Given the description of an element on the screen output the (x, y) to click on. 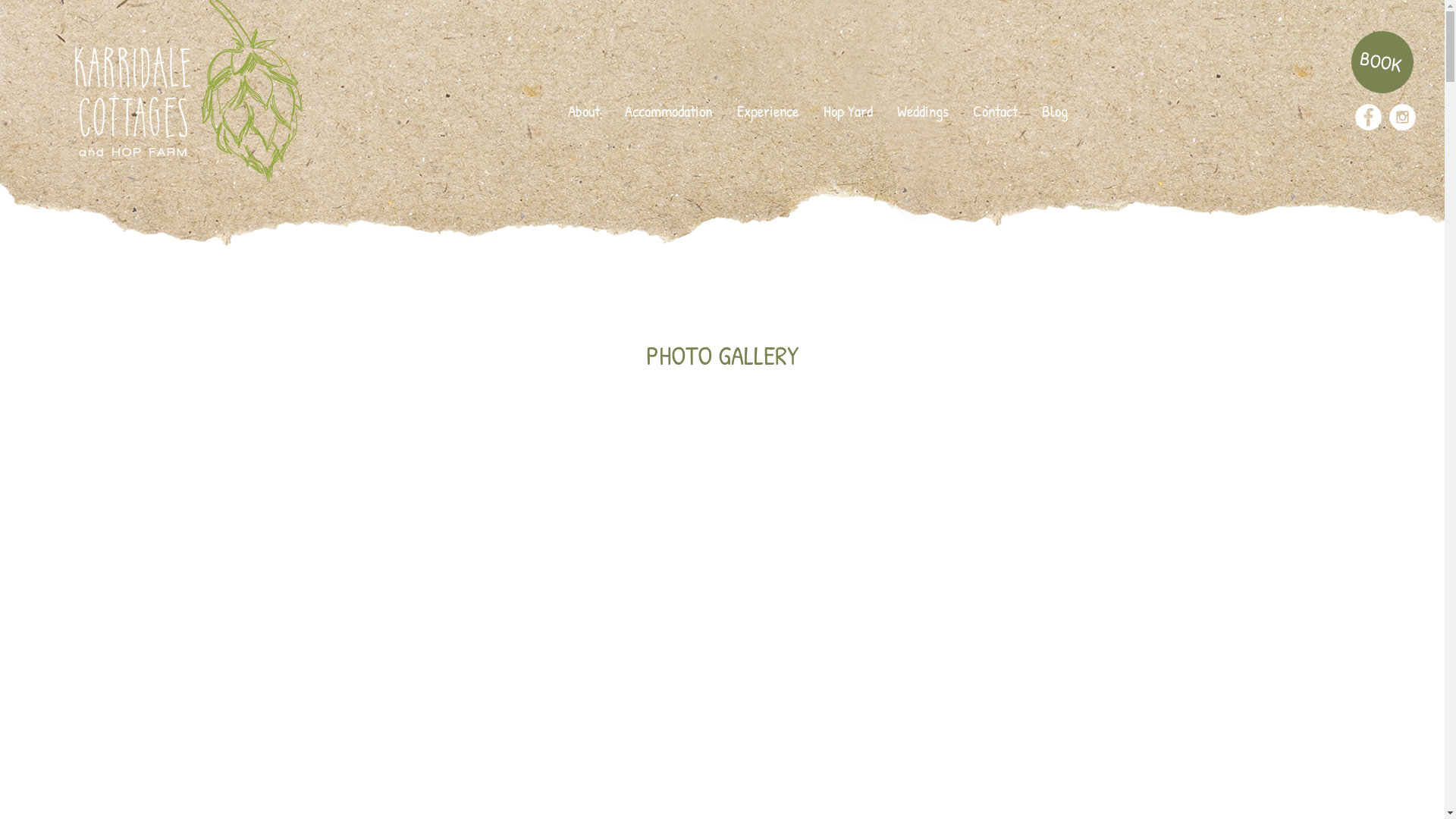
Accommodation Element type: text (668, 111)
Hop Yard Element type: text (847, 111)
Blog Element type: text (1054, 111)
About Element type: text (583, 111)
Weddings Element type: text (922, 111)
Contact Element type: text (994, 111)
BOOK Element type: text (1377, 56)
